Given the description of an element on the screen output the (x, y) to click on. 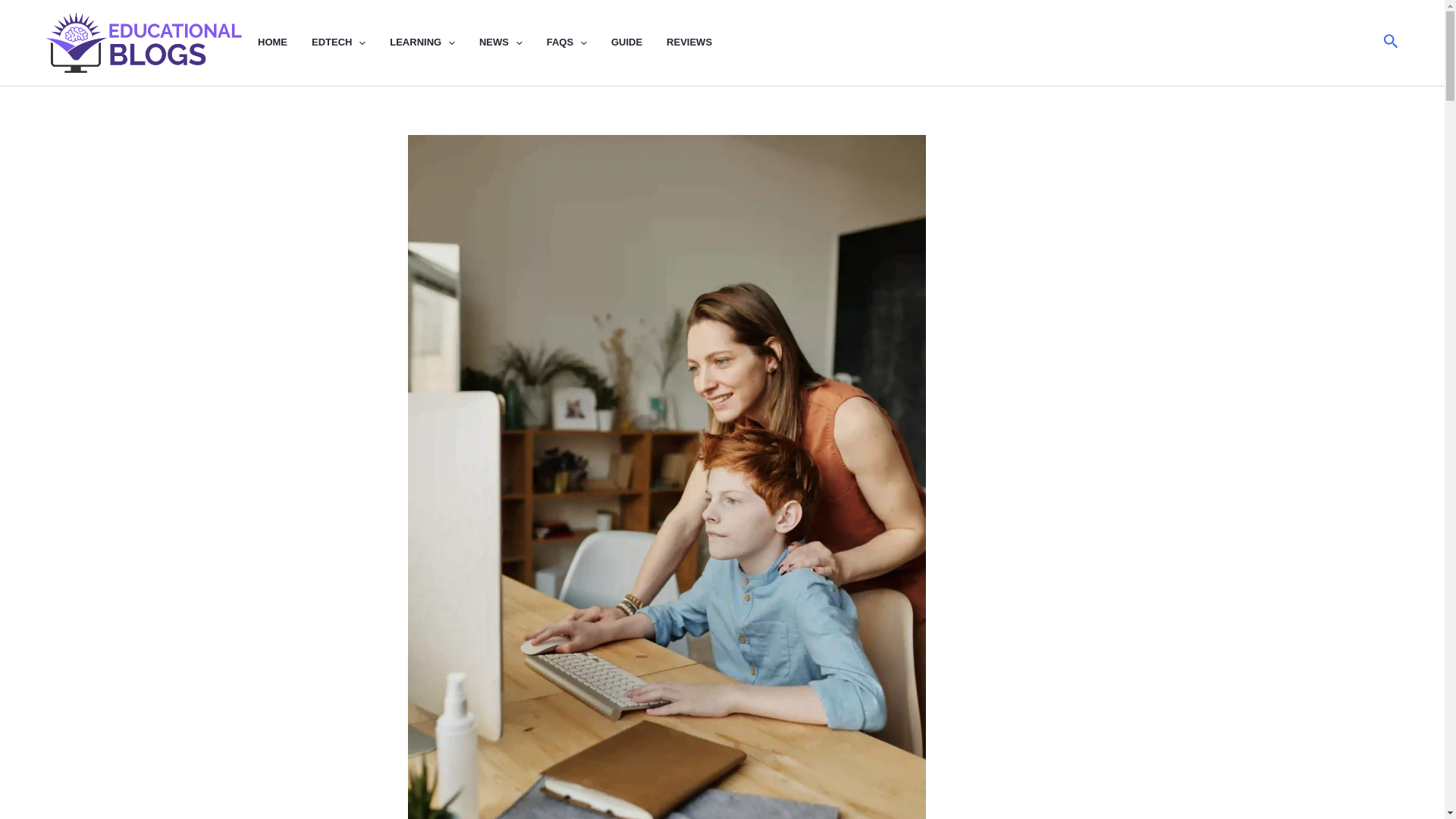
NEWS (513, 42)
REVIEWS (701, 42)
LEARNING (434, 42)
EDTECH (350, 42)
